Given the description of an element on the screen output the (x, y) to click on. 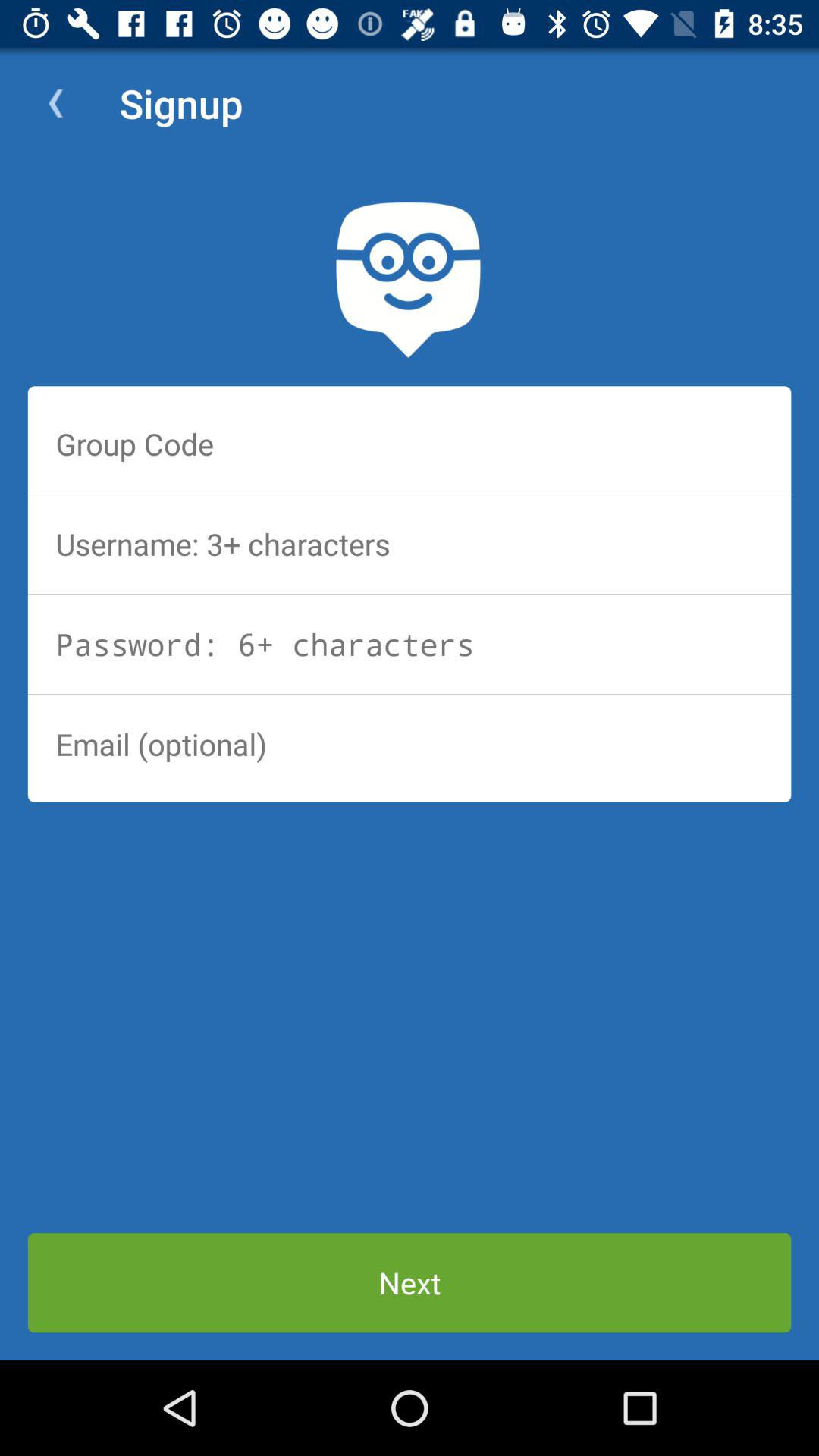
click next (409, 1282)
